Given the description of an element on the screen output the (x, y) to click on. 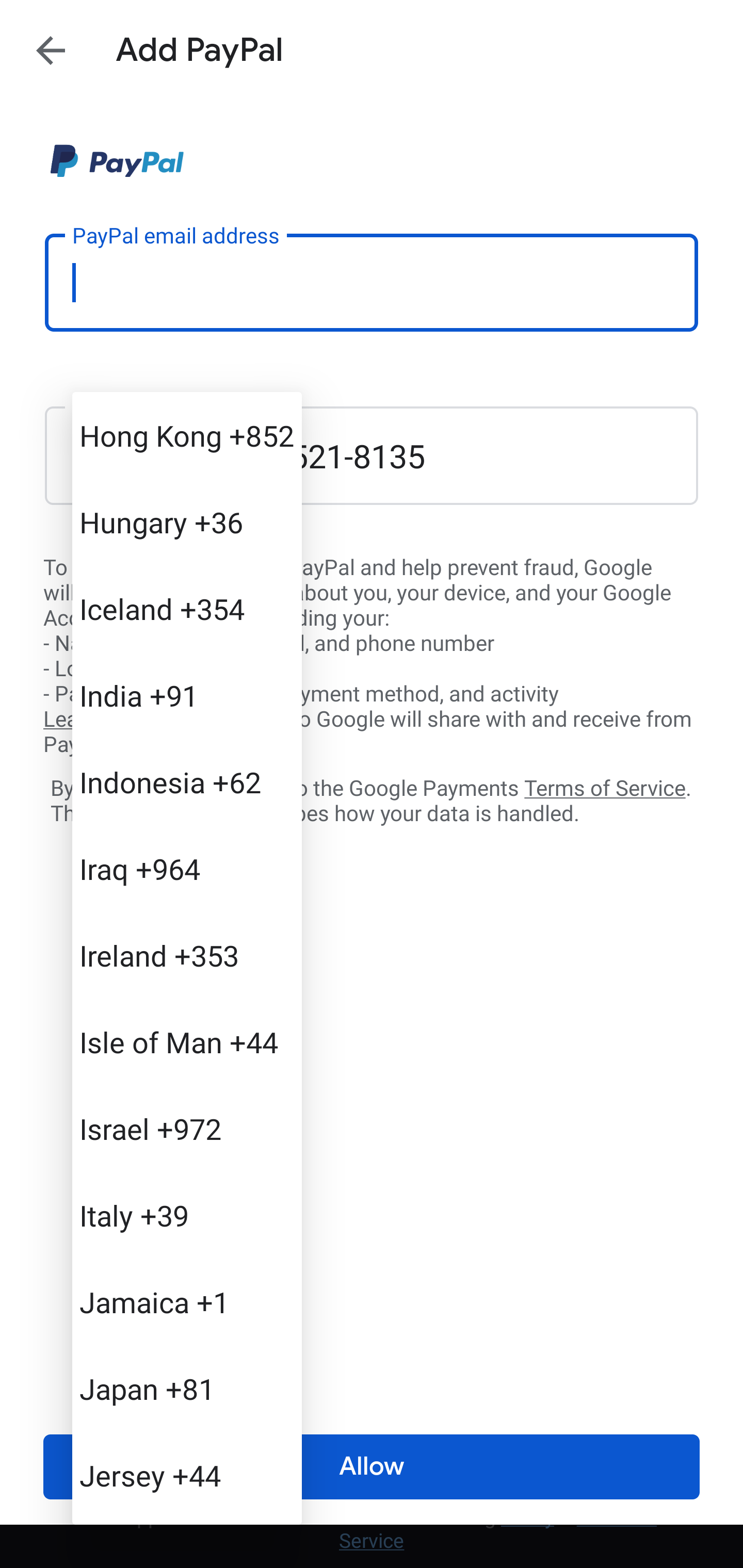
Hong Kong +852 (186, 435)
Hungary +36 (186, 522)
Iceland +354 (186, 609)
India +91 (186, 695)
Indonesia +62 (186, 781)
Iraq +964 (186, 868)
Ireland +353 (186, 955)
Isle of Man +44 (186, 1041)
Israel +972 (186, 1128)
Italy +39 (186, 1215)
Jamaica +1 (186, 1302)
Japan +81 (186, 1388)
Jersey +44 (186, 1474)
